Given the description of an element on the screen output the (x, y) to click on. 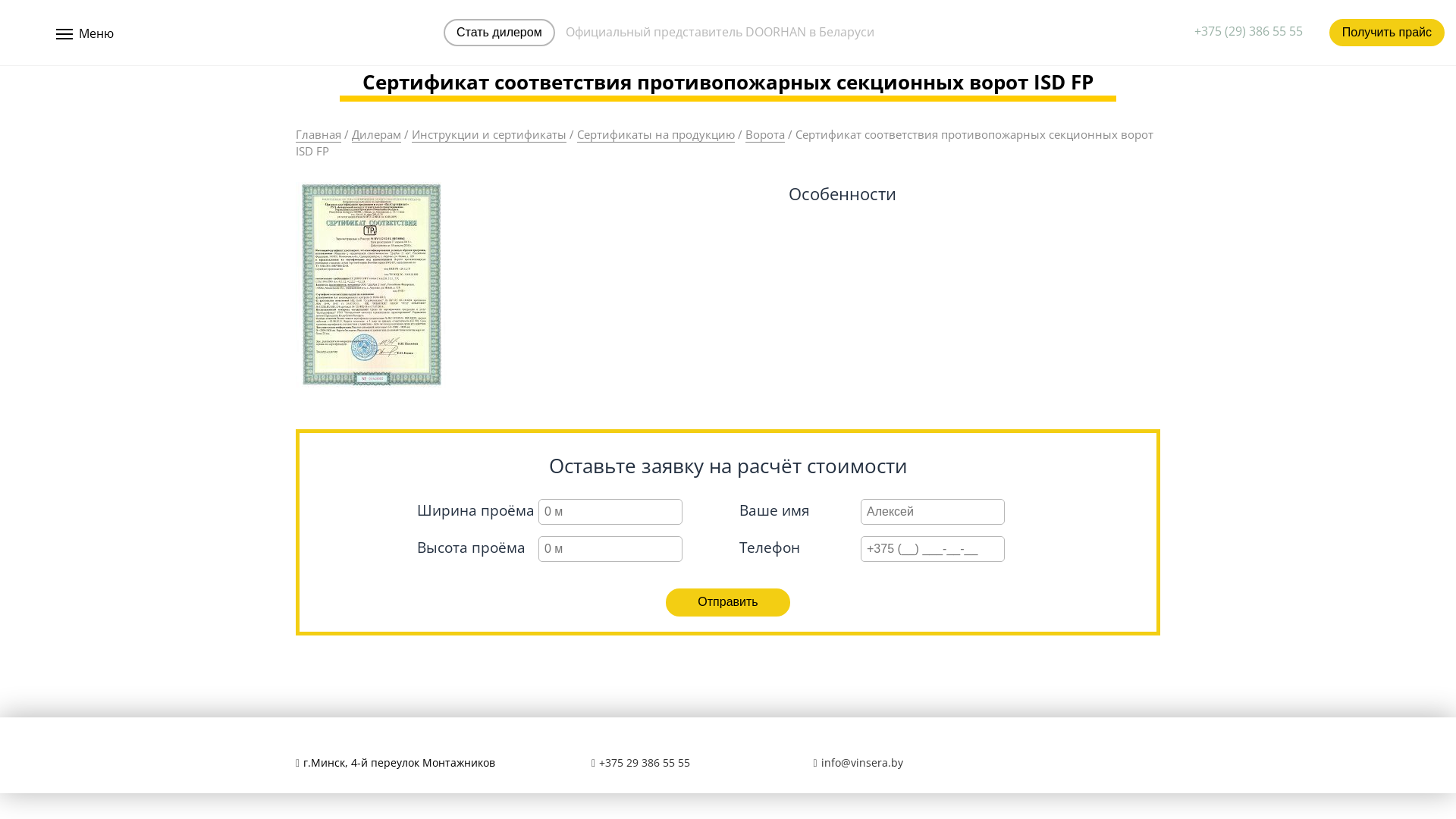
+375 (29) 386 55 55 Element type: text (1248, 30)
info@vinsera.by Element type: text (857, 762)
+375 29 386 55 55 Element type: text (644, 762)
